Given the description of an element on the screen output the (x, y) to click on. 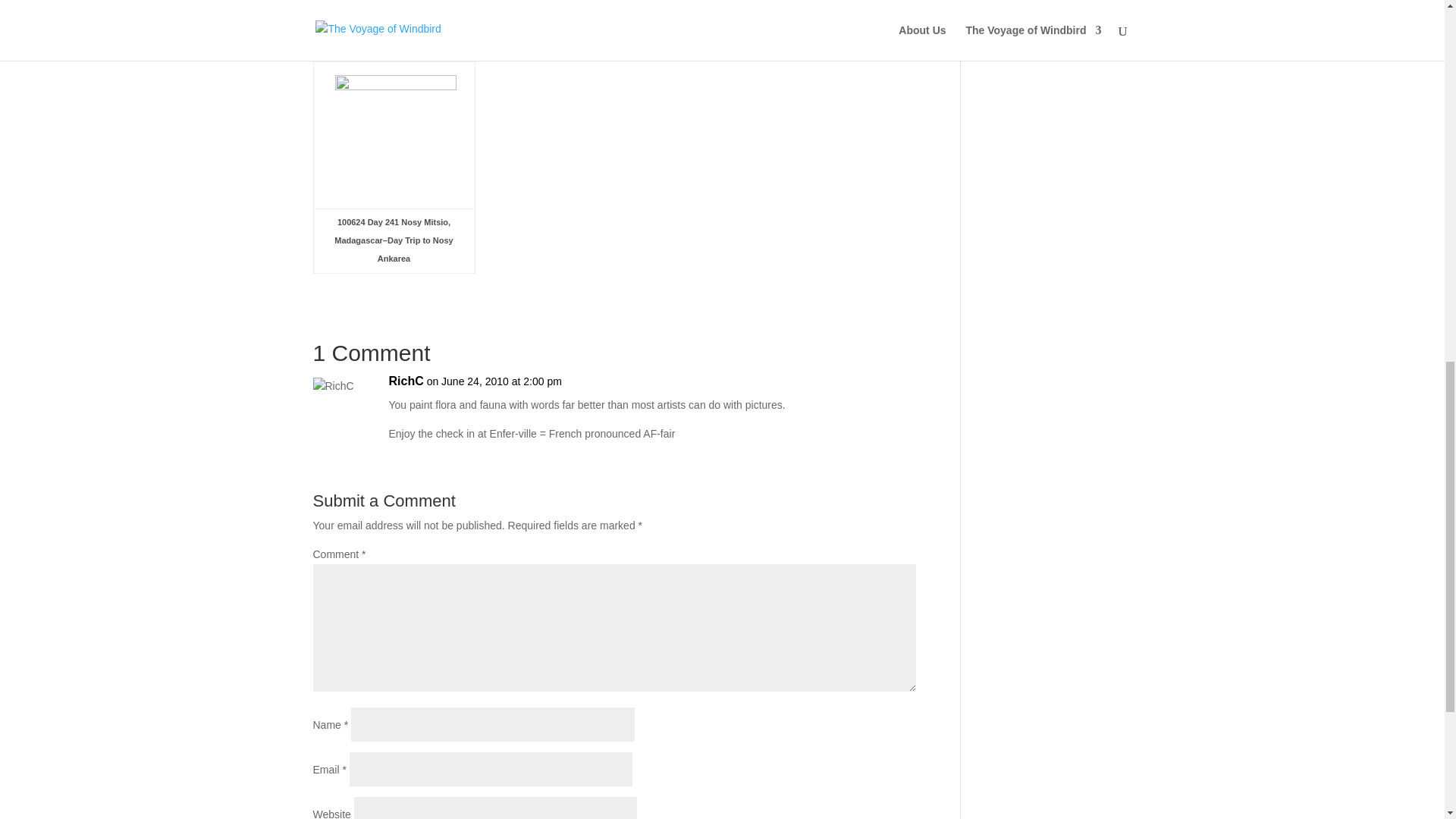
RichC (405, 381)
